Given the description of an element on the screen output the (x, y) to click on. 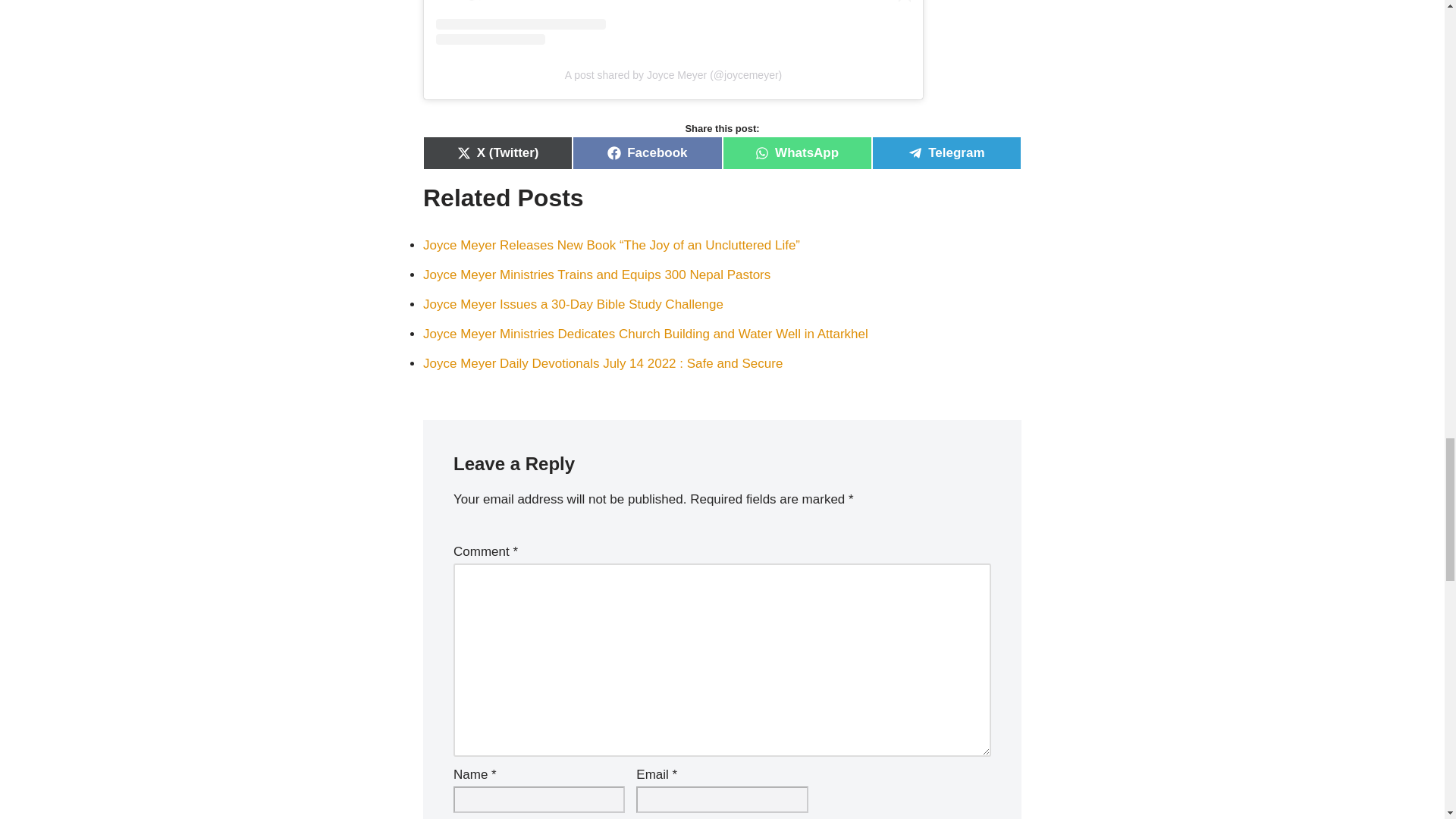
Facebook (647, 152)
Joyce Meyer Issues a 30-Day Bible Study Challenge (573, 304)
Joyce Meyer Daily Devotionals July 14 2022 : Safe and Secure (603, 363)
Joyce Meyer Ministries Trains and Equips 300 Nepal Pastors (596, 274)
View this post on Instagram (673, 22)
WhatsApp (796, 152)
Telegram (947, 152)
